Given the description of an element on the screen output the (x, y) to click on. 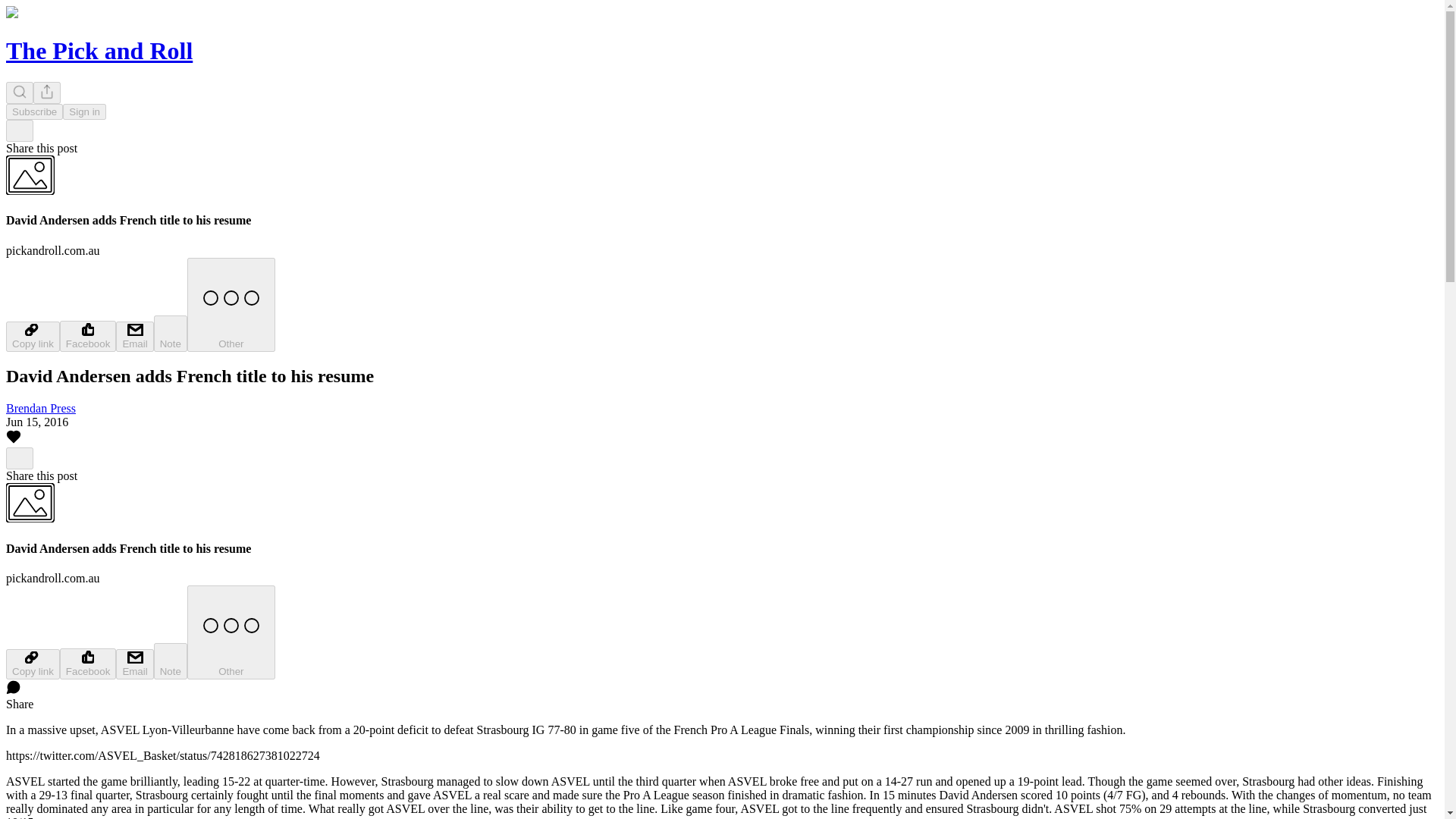
Sign in (84, 111)
Note (170, 333)
Brendan Press (40, 408)
Subscribe (33, 111)
The Pick and Roll (98, 50)
Copy link (32, 336)
Copy link (32, 664)
Note (170, 660)
Other (231, 304)
Facebook (87, 336)
